Given the description of an element on the screen output the (x, y) to click on. 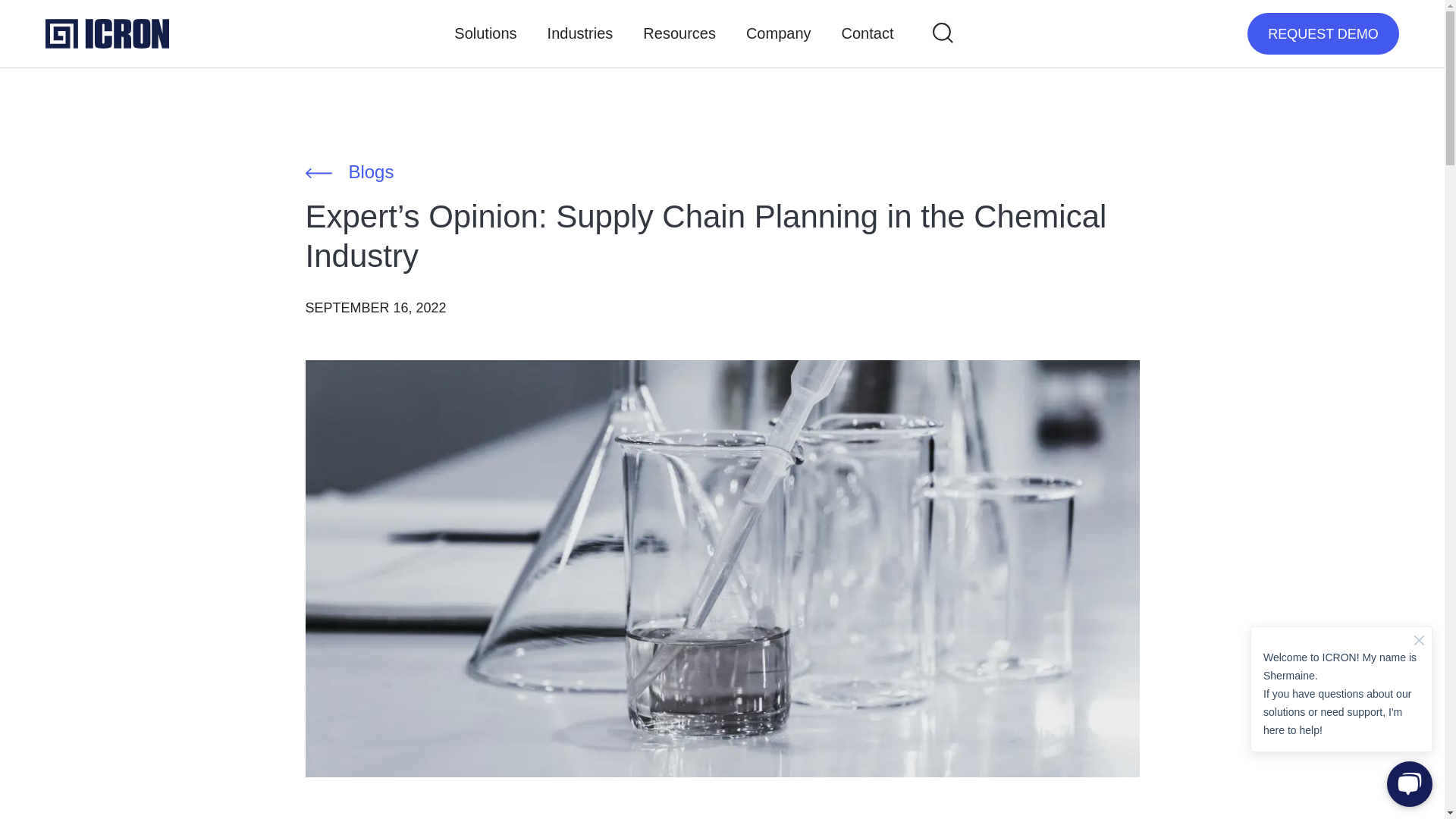
Resources (679, 33)
REQUEST DEMO (1323, 33)
Contact (867, 33)
